Given the description of an element on the screen output the (x, y) to click on. 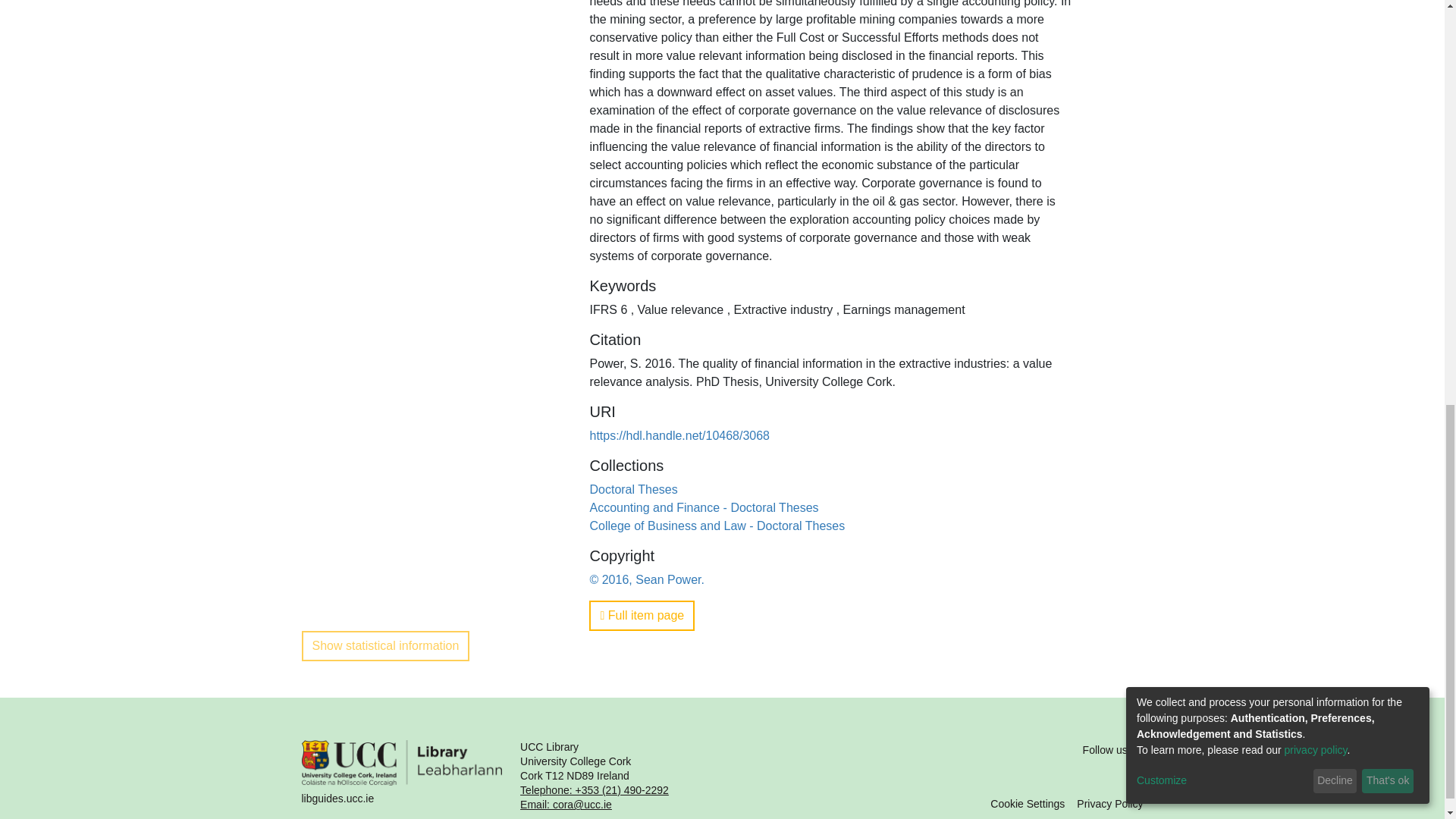
Cookie Settings (1027, 803)
libguides.ucc.ie (401, 776)
Show statistical information (385, 645)
Doctoral Theses (633, 489)
Privacy Policy (1109, 803)
College of Business and Law - Doctoral Theses (716, 525)
Full item page (641, 615)
Accounting and Finance - Doctoral Theses (703, 507)
